Given the description of an element on the screen output the (x, y) to click on. 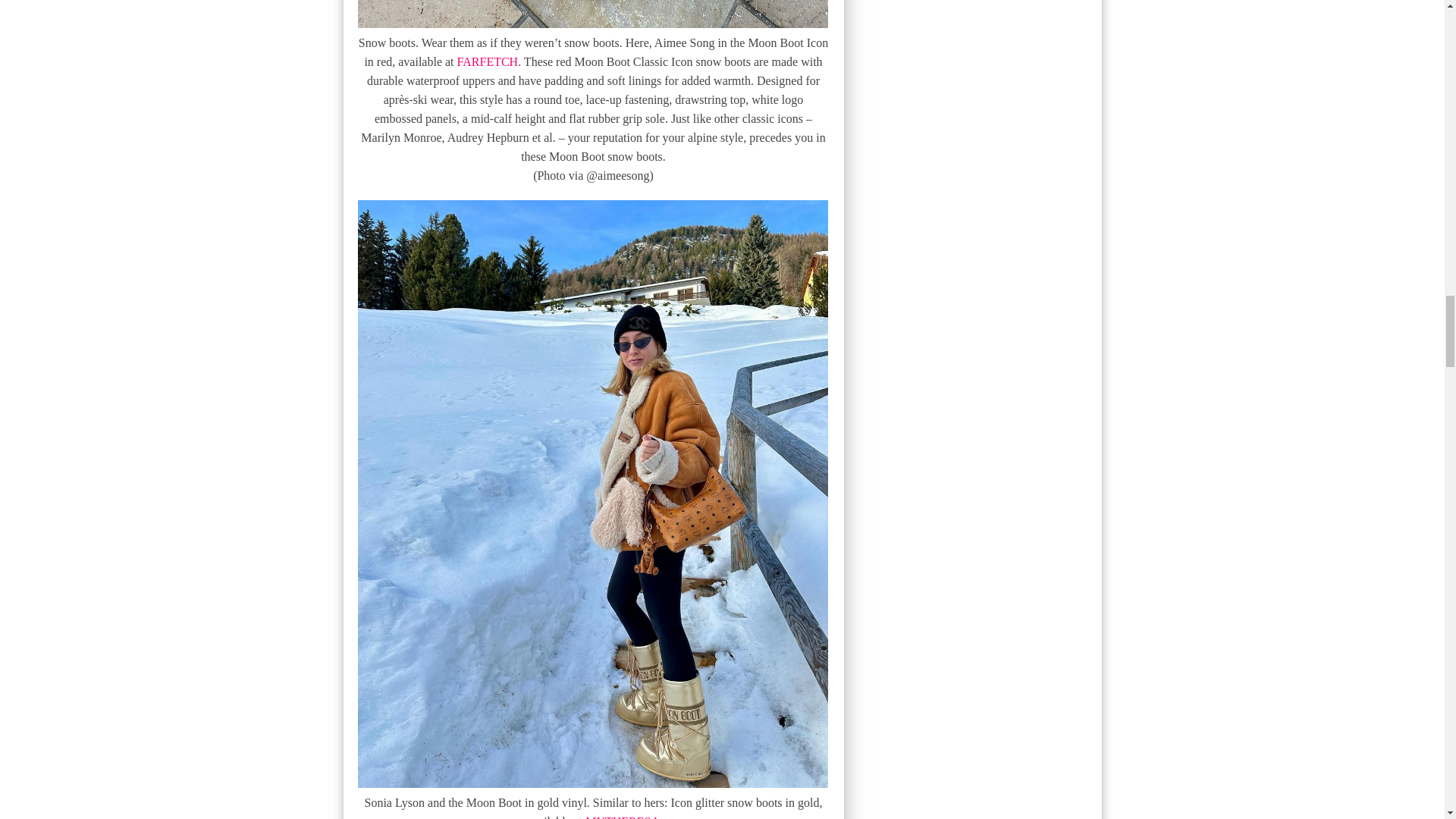
MYTHERESA (622, 816)
FARFETCH (487, 61)
